Given the description of an element on the screen output the (x, y) to click on. 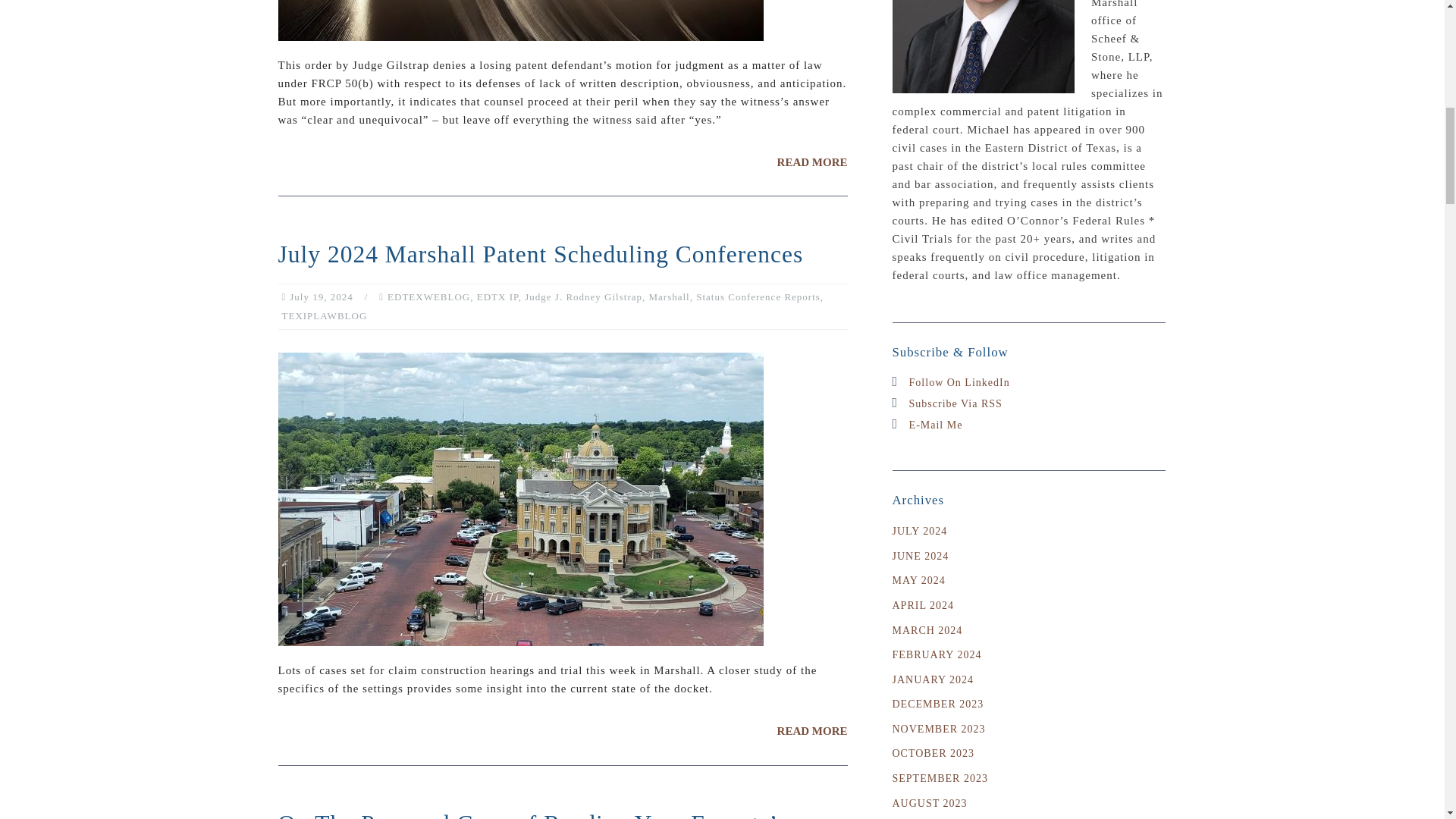
July 2024 Marshall Patent Scheduling Conferences (812, 731)
The Risks of Truncating Quotes (812, 162)
